Given the description of an element on the screen output the (x, y) to click on. 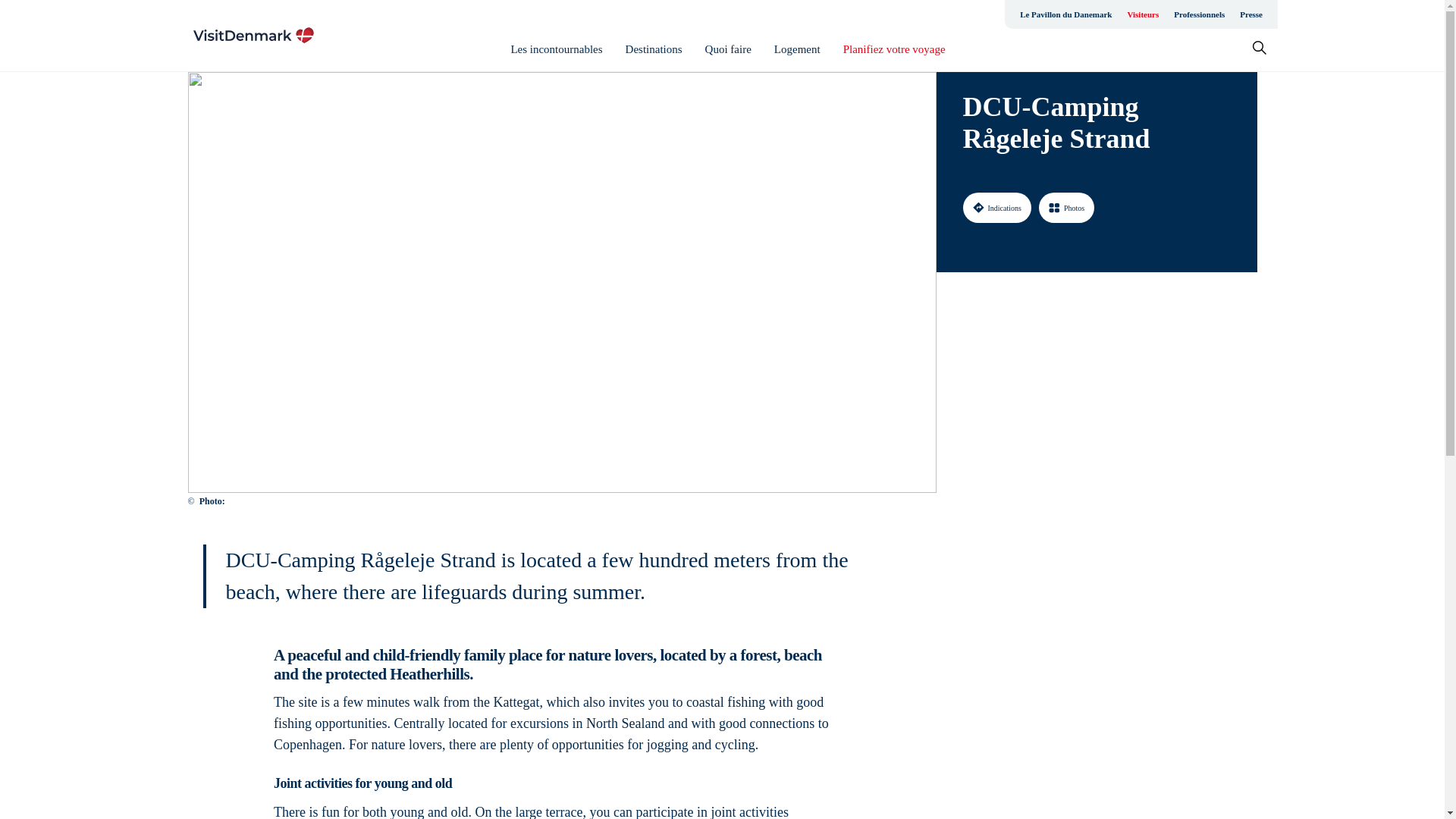
Destinations (654, 49)
Quoi faire (727, 49)
Indications (996, 207)
Le Pavillon du Danemark (1065, 14)
Visiteurs (1142, 14)
Planifiez votre voyage (893, 49)
Presse (1250, 14)
Les incontournables (556, 49)
Photos (1066, 207)
Professionnels (1198, 14)
